Given the description of an element on the screen output the (x, y) to click on. 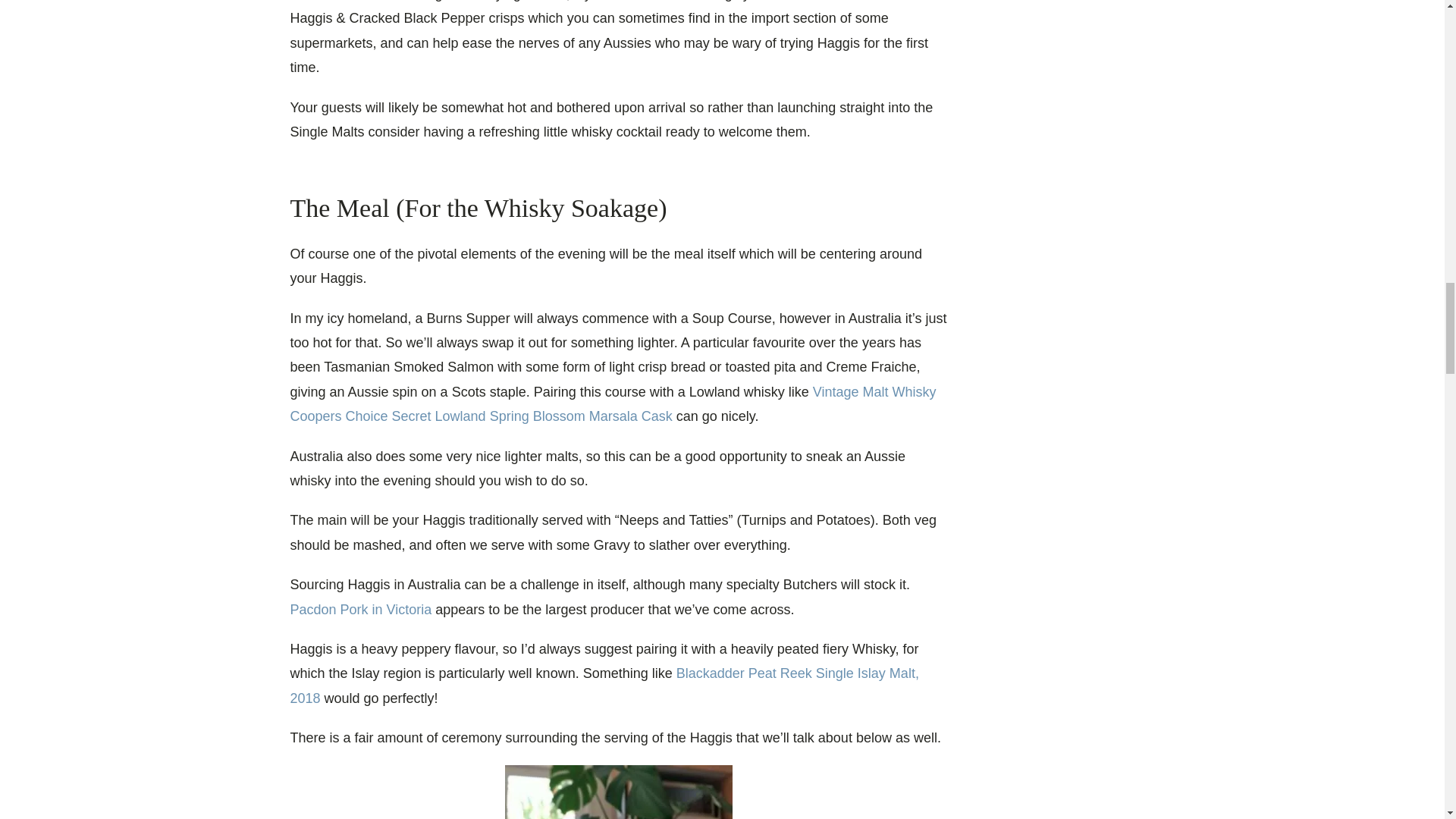
Pacdon Pork in Victoria (359, 609)
Burns Night Haggis (618, 791)
Blackadder Peat Reek Single Islay Malt, 2018 (603, 685)
